Given the description of an element on the screen output the (x, y) to click on. 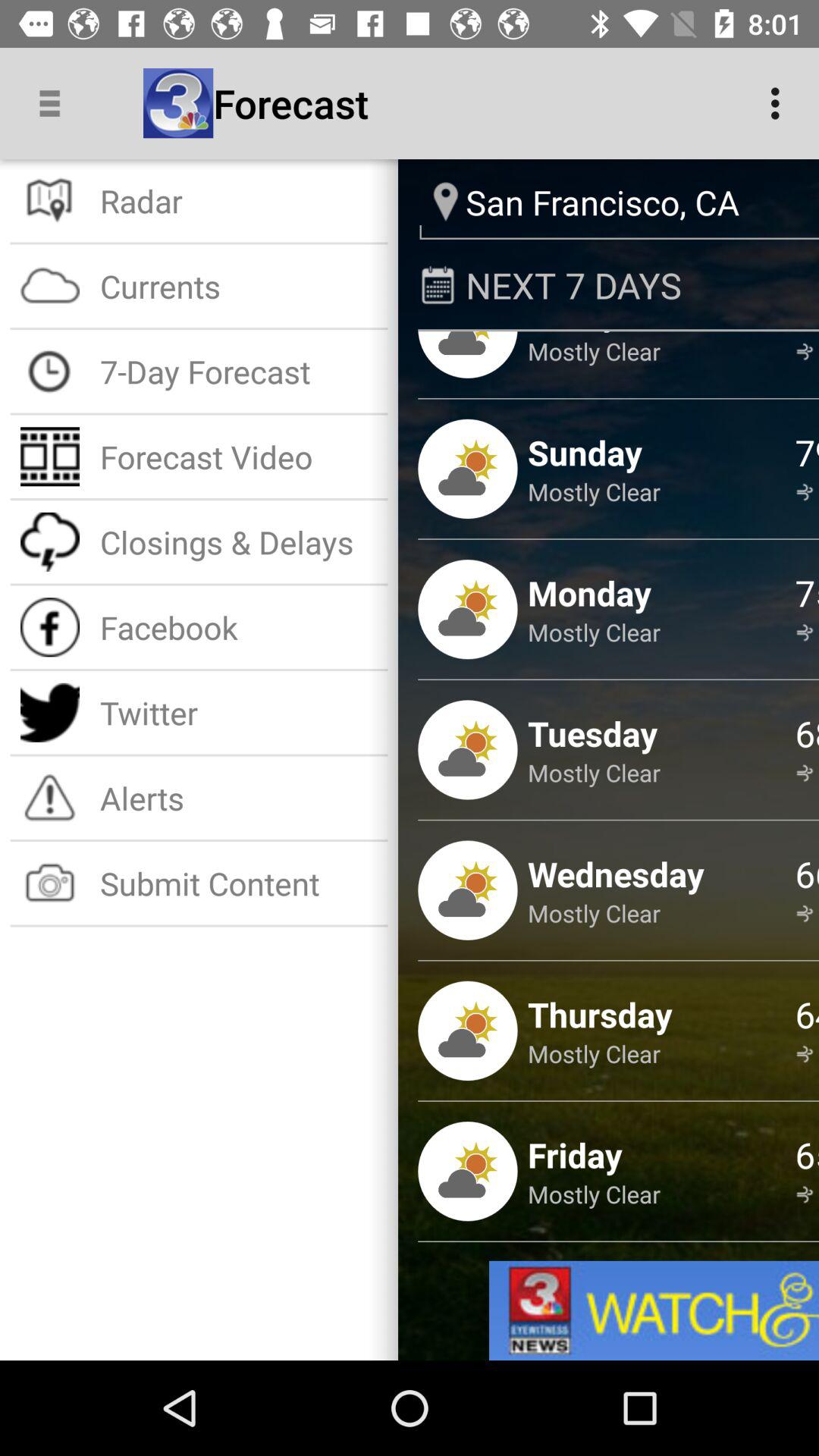
swipe to the twitter (238, 712)
